Given the description of an element on the screen output the (x, y) to click on. 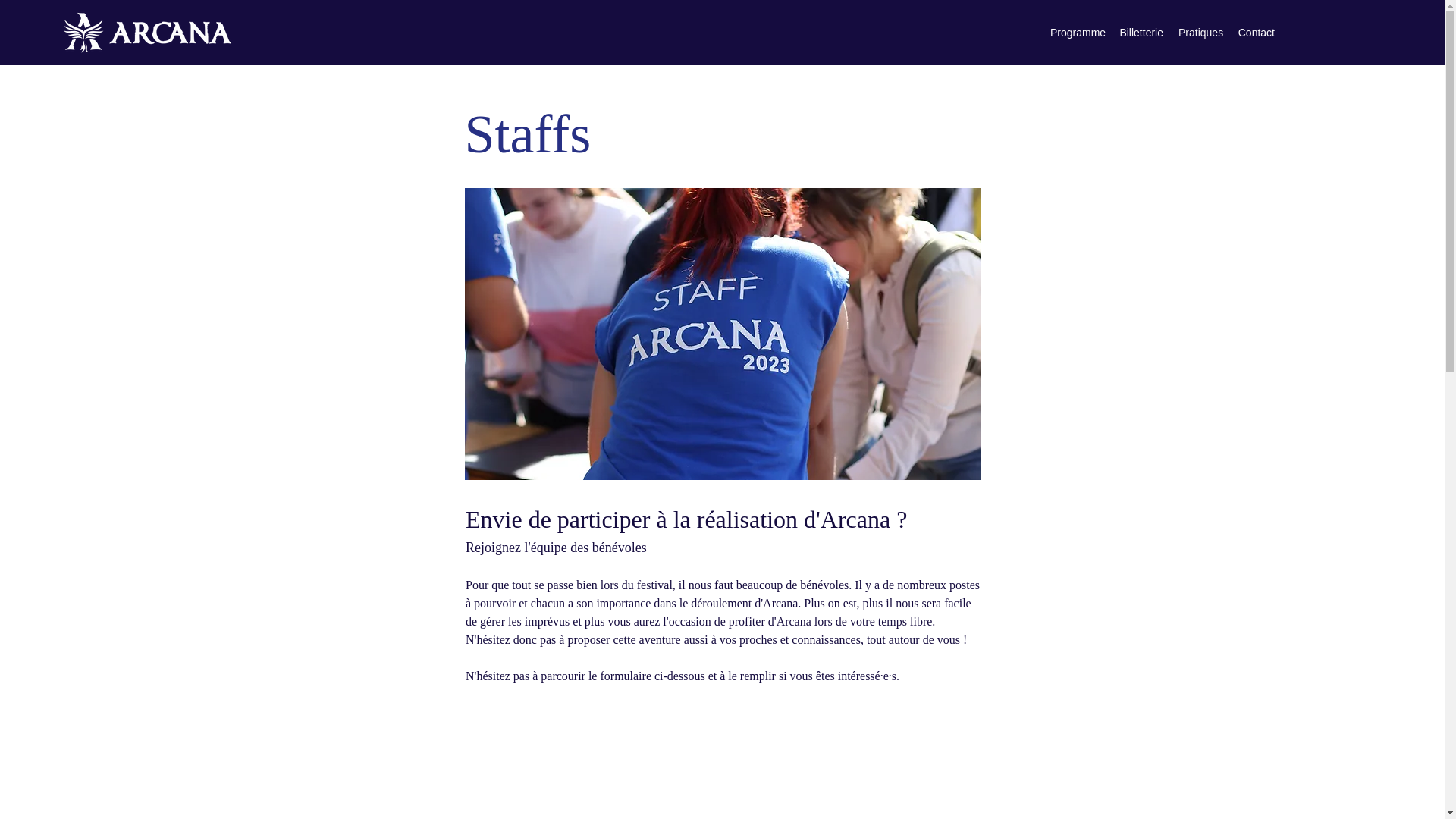
Programme (1077, 32)
Contact (1256, 32)
Billetterie (1141, 32)
Pratiques (1200, 32)
